Given the description of an element on the screen output the (x, y) to click on. 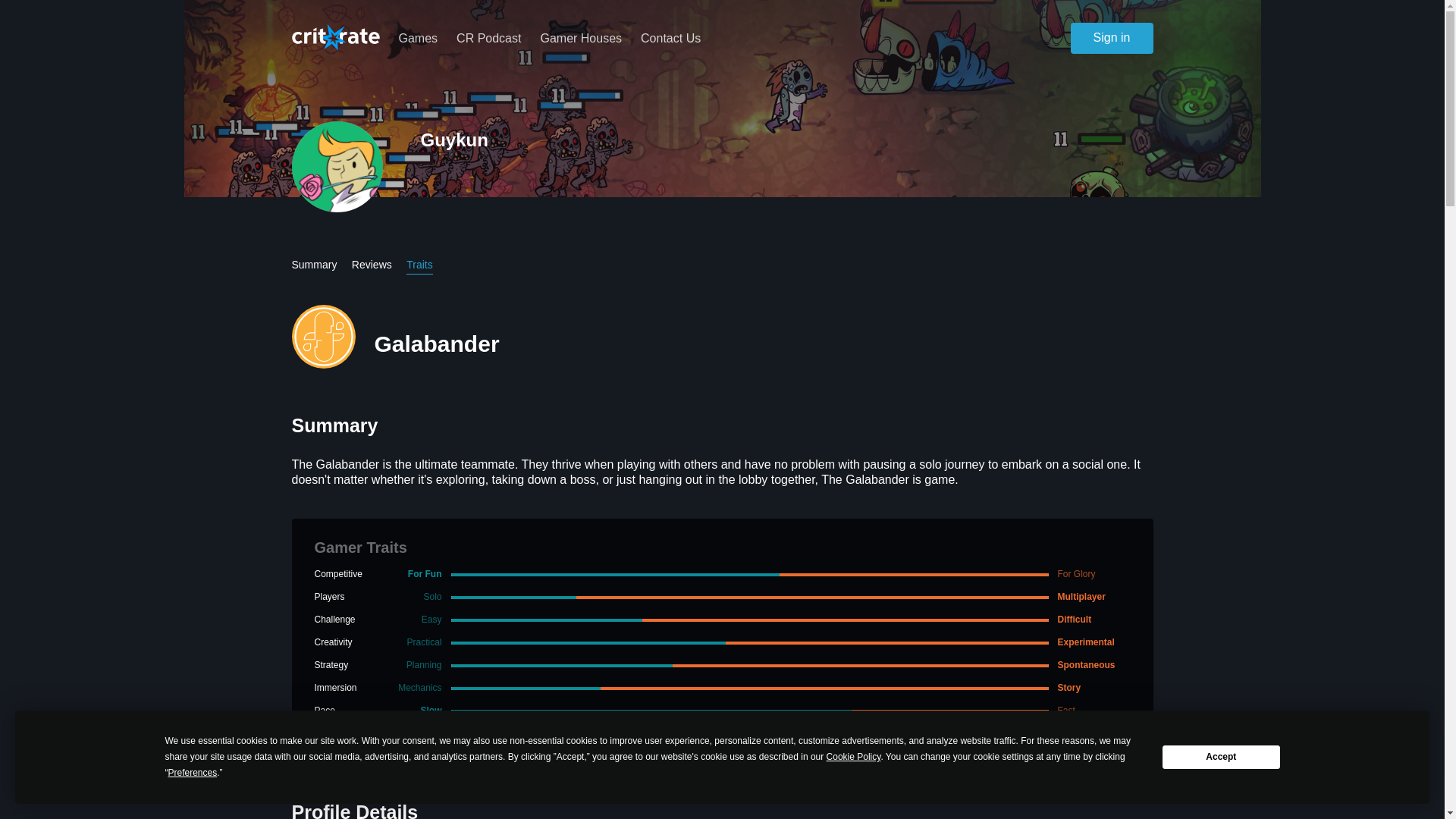
Summary (313, 264)
Contact Us (670, 38)
Gamer Houses (580, 38)
Games (418, 38)
Traits (419, 264)
Sign in (1100, 47)
Accept (1220, 757)
CR Podcast (489, 38)
Reviews (371, 264)
